Given the description of an element on the screen output the (x, y) to click on. 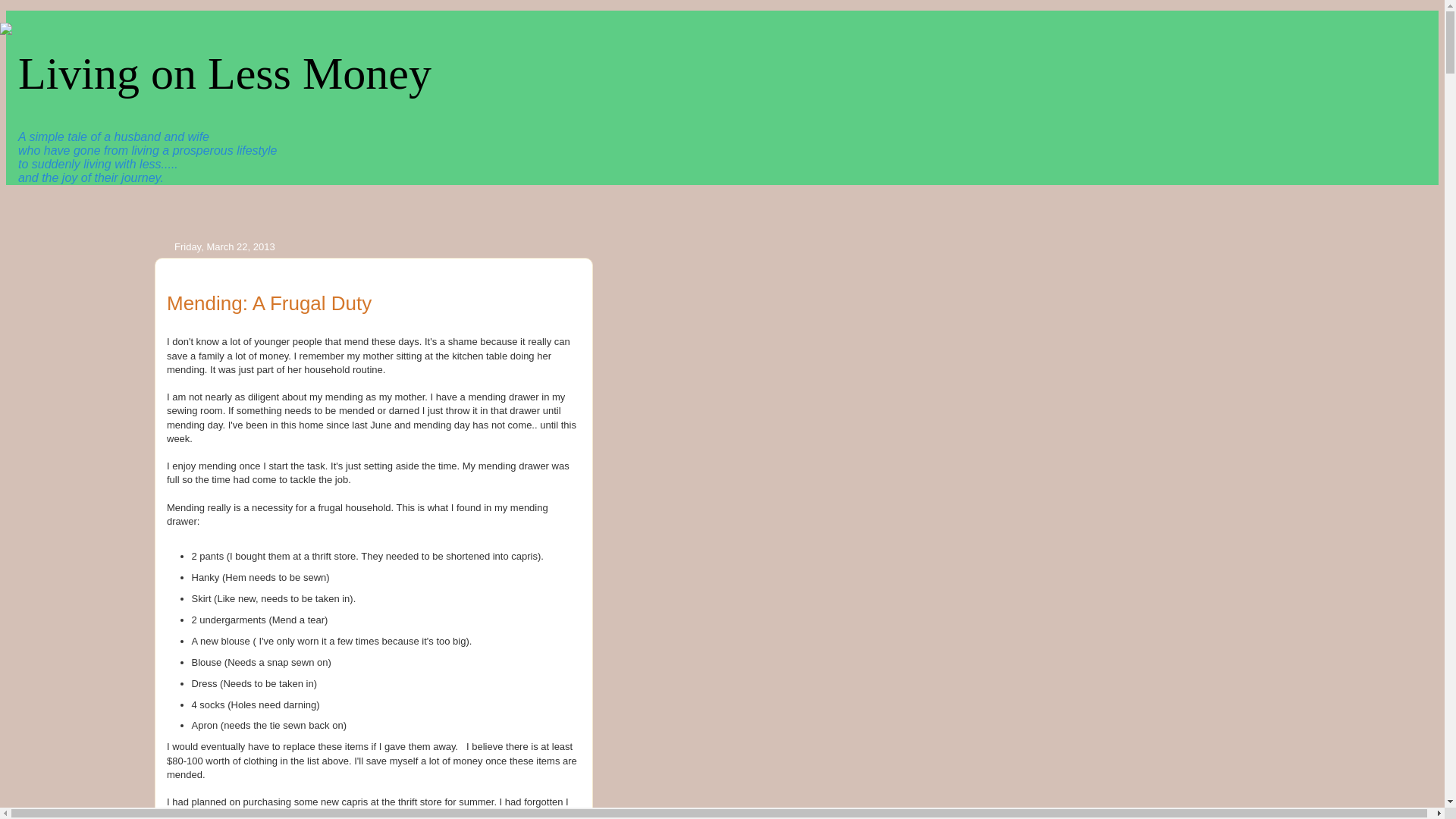
Living on Less Money (223, 73)
Mending: A Frugal Duty (269, 302)
